Given the description of an element on the screen output the (x, y) to click on. 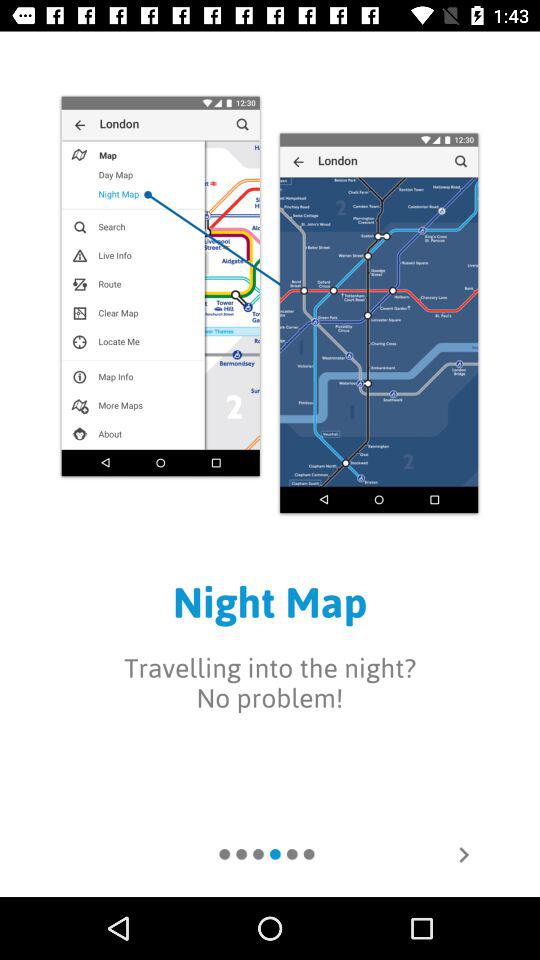
next (463, 855)
